Given the description of an element on the screen output the (x, y) to click on. 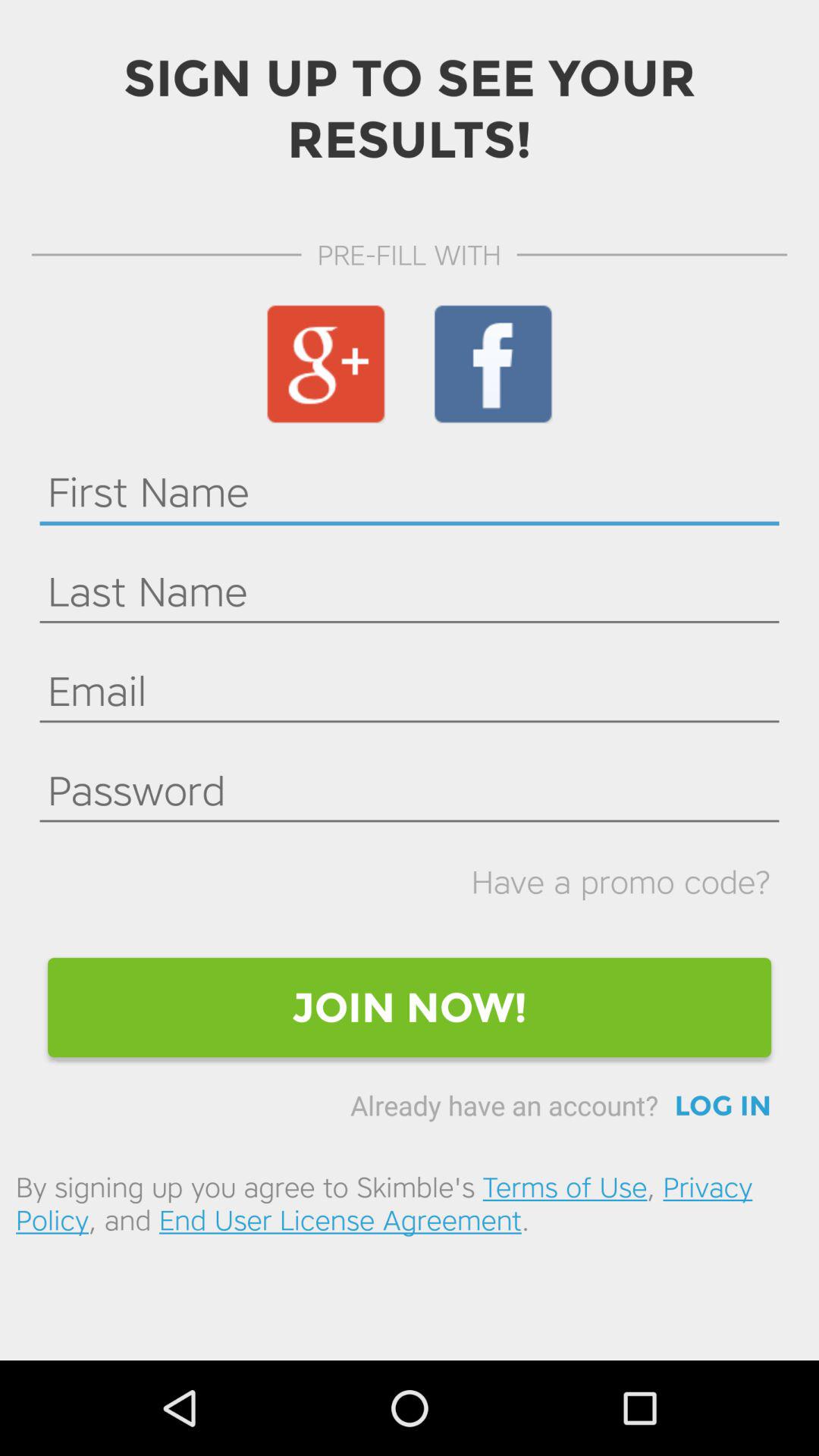
select the have a promo on the right (621, 881)
